Given the description of an element on the screen output the (x, y) to click on. 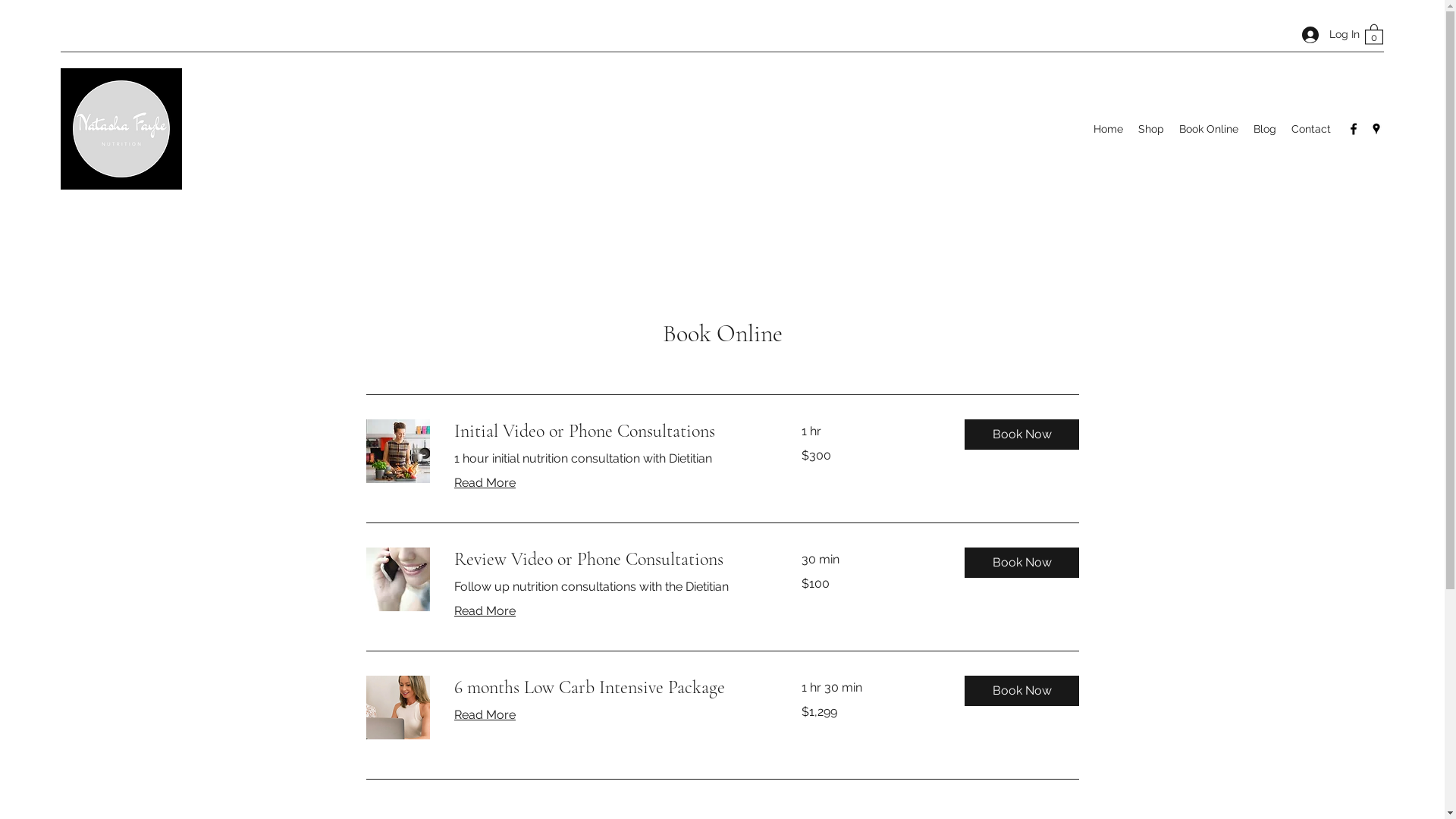
Book Online Element type: text (1208, 128)
Read More Element type: text (483, 611)
Log In Element type: text (1325, 34)
Book Now Element type: text (1021, 434)
Blog Element type: text (1264, 128)
Review Video or Phone Consultations Element type: text (608, 559)
Read More Element type: text (483, 482)
Initial Video or Phone Consultations Element type: text (608, 431)
Read More Element type: text (483, 715)
Home Element type: text (1107, 128)
Shop Element type: text (1150, 128)
Book Now Element type: text (1021, 690)
0 Element type: text (1374, 33)
Book Now Element type: text (1021, 562)
6 months Low Carb Intensive Package Element type: text (608, 687)
Contact Element type: text (1310, 128)
